Given the description of an element on the screen output the (x, y) to click on. 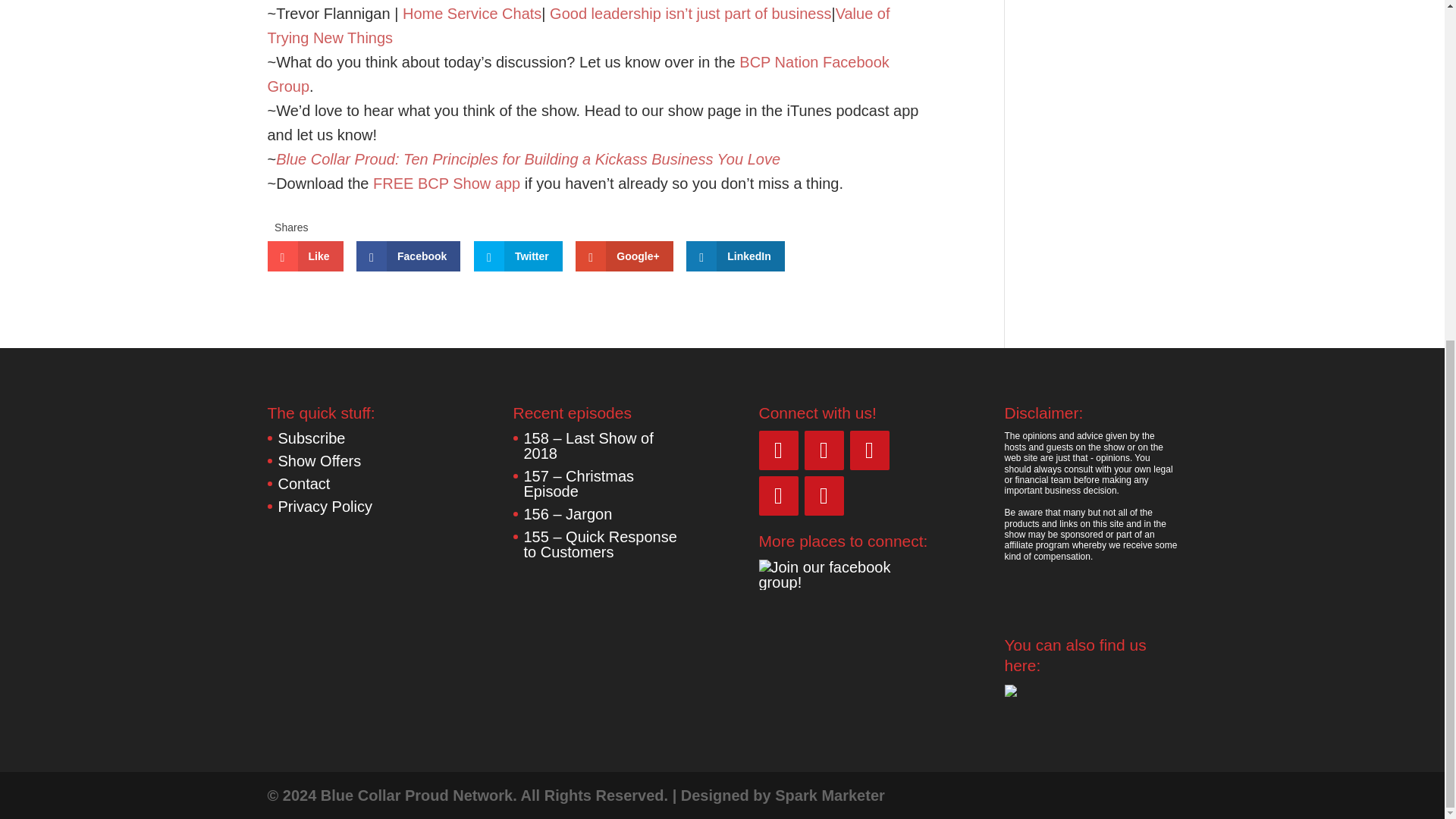
Twitter (823, 450)
Privacy Policy (324, 506)
Subscribe (311, 437)
Home Service Chats (472, 13)
iTunes (823, 495)
Instagram (868, 450)
Facebook (408, 255)
Twitter (518, 255)
Show Offers (319, 460)
